Given the description of an element on the screen output the (x, y) to click on. 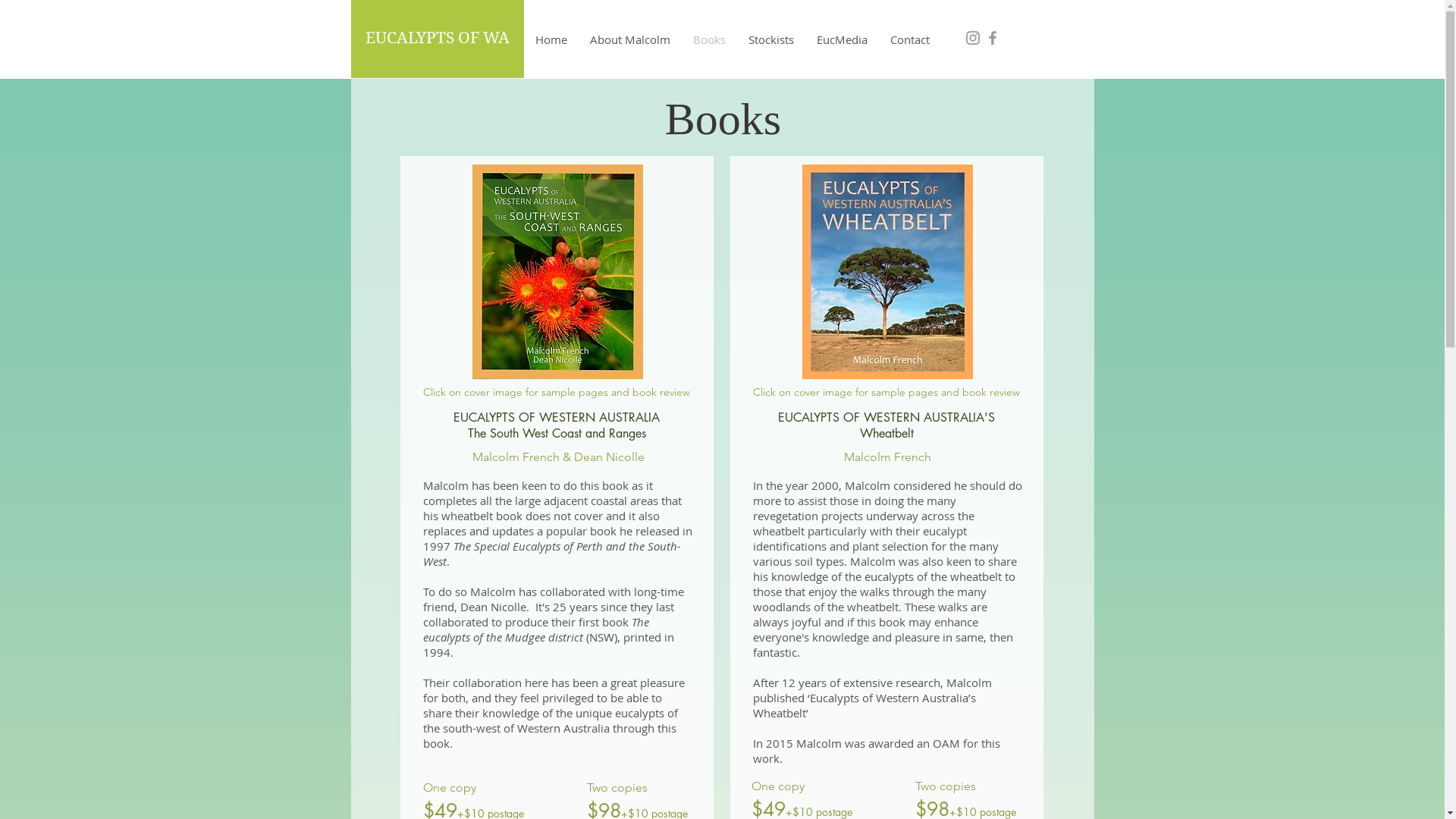
Contact Element type: text (909, 39)
About Malcolm Element type: text (628, 39)
EUCALYPTS OF WA Element type: text (437, 37)
Books Element type: text (708, 39)
EucMedia Element type: text (841, 39)
Stockists Element type: text (771, 39)
Home Element type: text (550, 39)
